Given the description of an element on the screen output the (x, y) to click on. 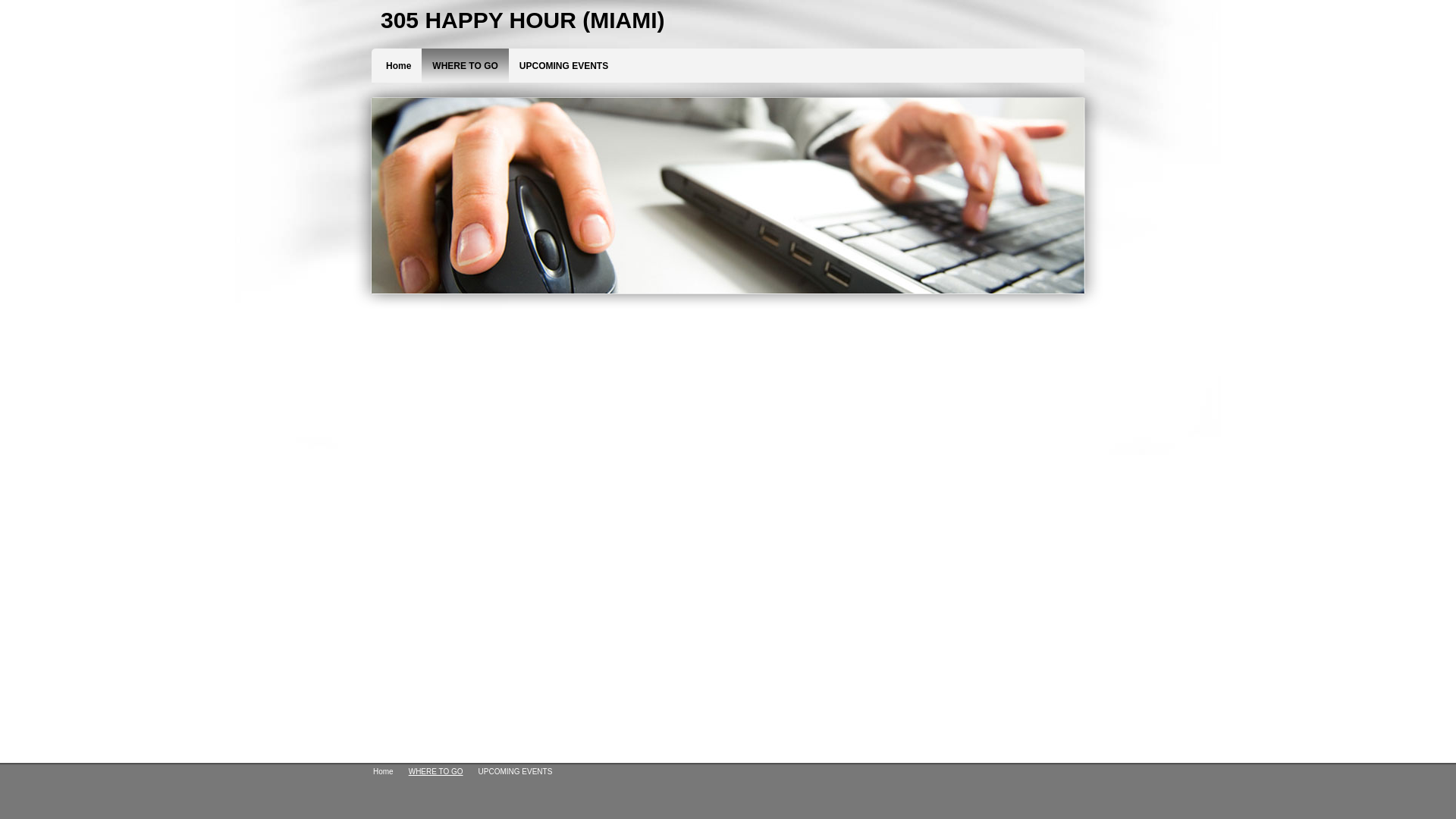
Home Element type: text (383, 771)
Home Element type: text (398, 77)
UPCOMING EVENTS Element type: text (563, 77)
WHERE TO GO Element type: text (435, 771)
UPCOMING EVENTS Element type: text (515, 771)
WHERE TO GO Element type: text (464, 77)
305 HAPPY HOUR (MIAMI) Element type: text (729, 20)
